Given the description of an element on the screen output the (x, y) to click on. 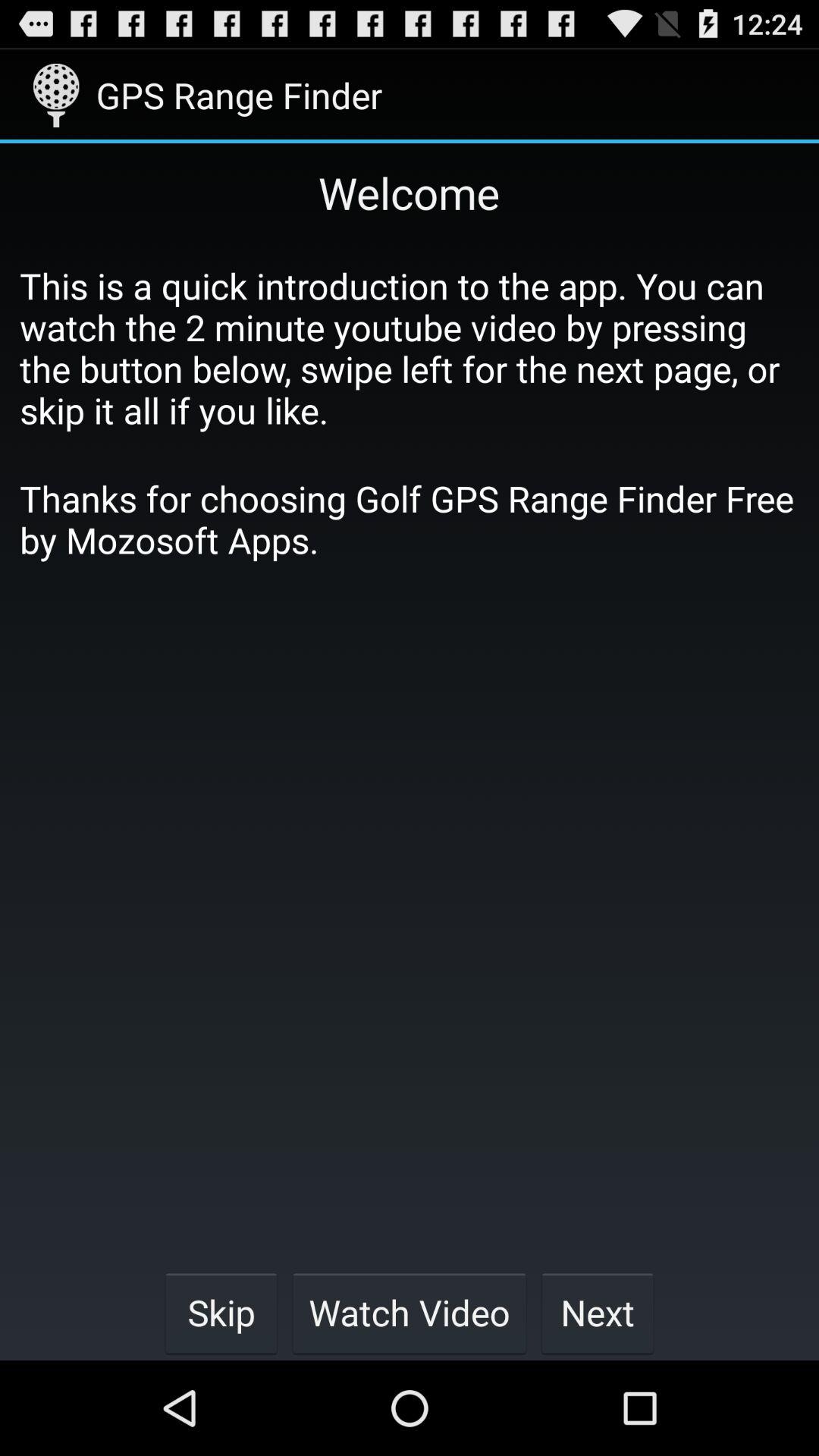
launch item next to the watch video (220, 1312)
